Given the description of an element on the screen output the (x, y) to click on. 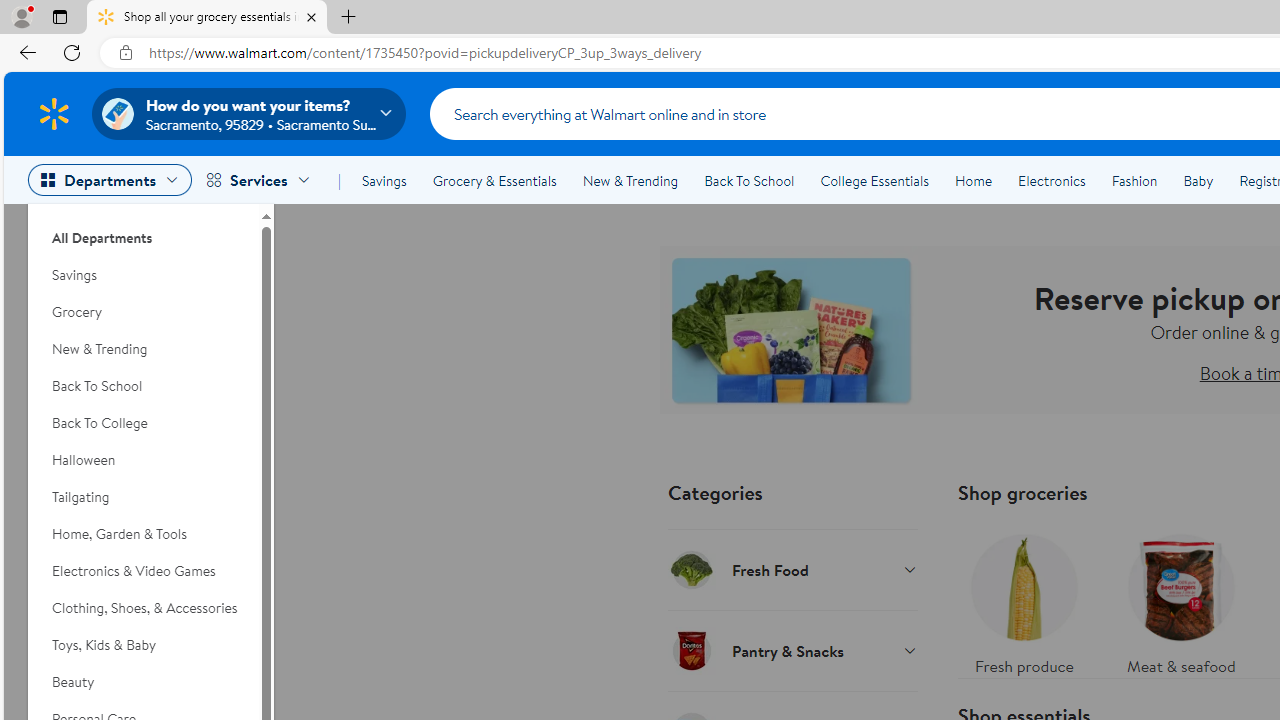
Grocery (143, 312)
Home, Garden & Tools (143, 534)
Back To School (749, 180)
Meat & seafood (1180, 599)
Halloween (143, 460)
Grocery & Essentials (493, 180)
College Essentials (874, 180)
Baby (1197, 180)
Fresh Food (792, 569)
Beauty (143, 682)
Meat & seafood (1180, 599)
Home, Garden & Tools (143, 534)
